Given the description of an element on the screen output the (x, y) to click on. 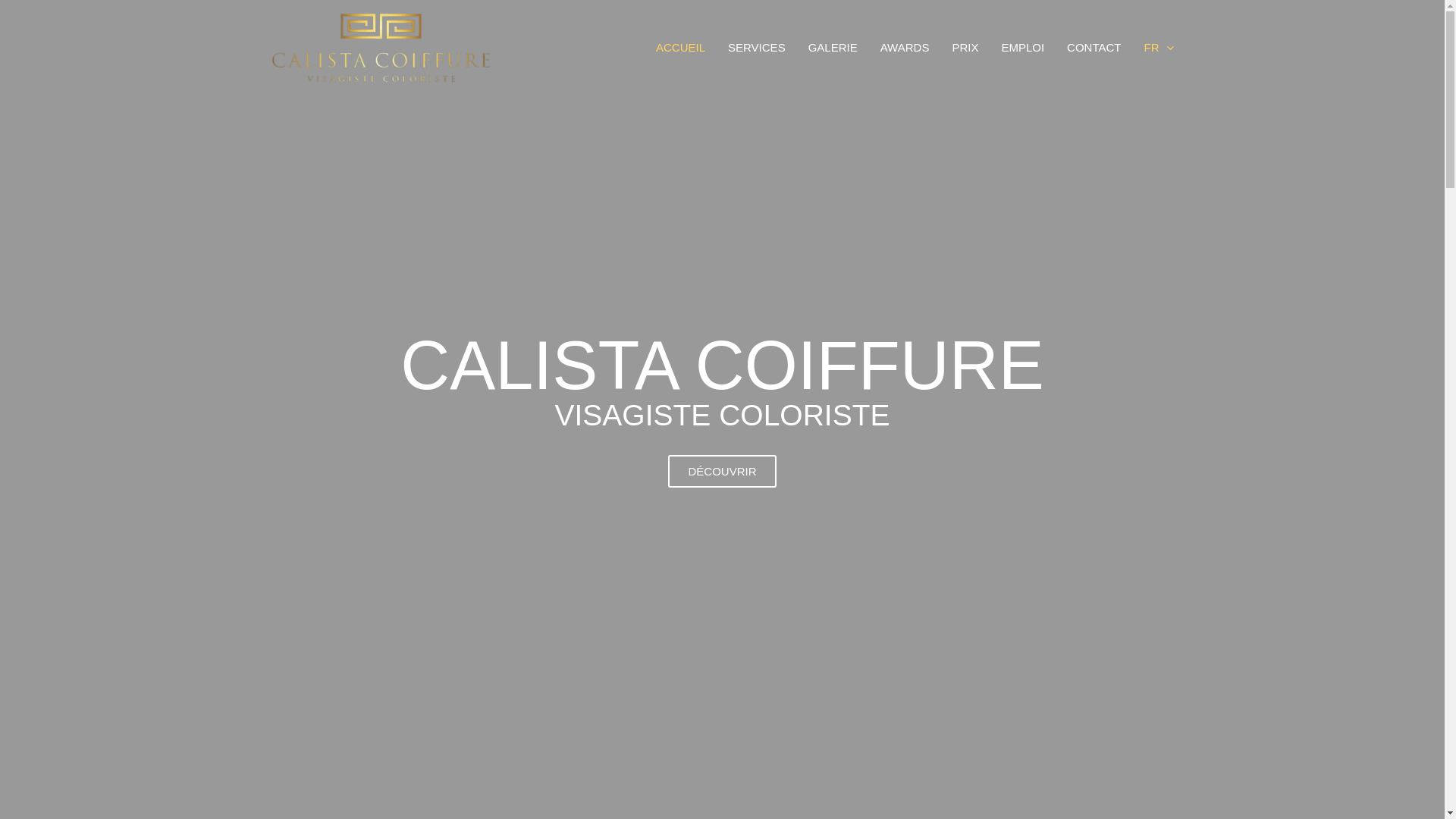
AWARDS Element type: text (905, 47)
SERVICES Element type: text (756, 47)
ACCUEIL Element type: text (680, 47)
GALERIE Element type: text (833, 47)
CONTACT Element type: text (1093, 47)
EMPLOI Element type: text (1022, 47)
PRIX Element type: text (964, 47)
FR Element type: text (1154, 47)
